Given the description of an element on the screen output the (x, y) to click on. 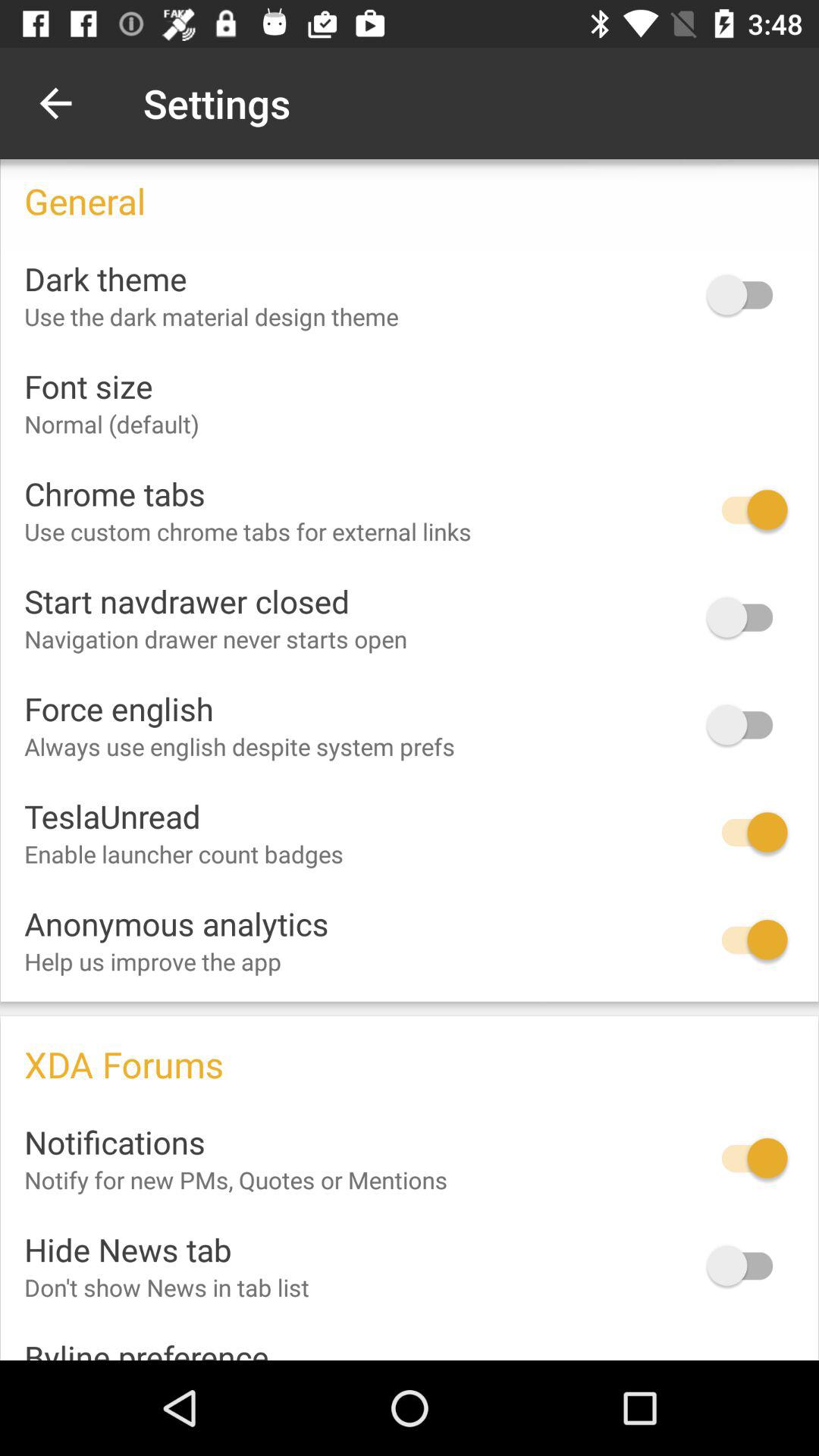
tap icon to the left of the settings item (55, 103)
